Given the description of an element on the screen output the (x, y) to click on. 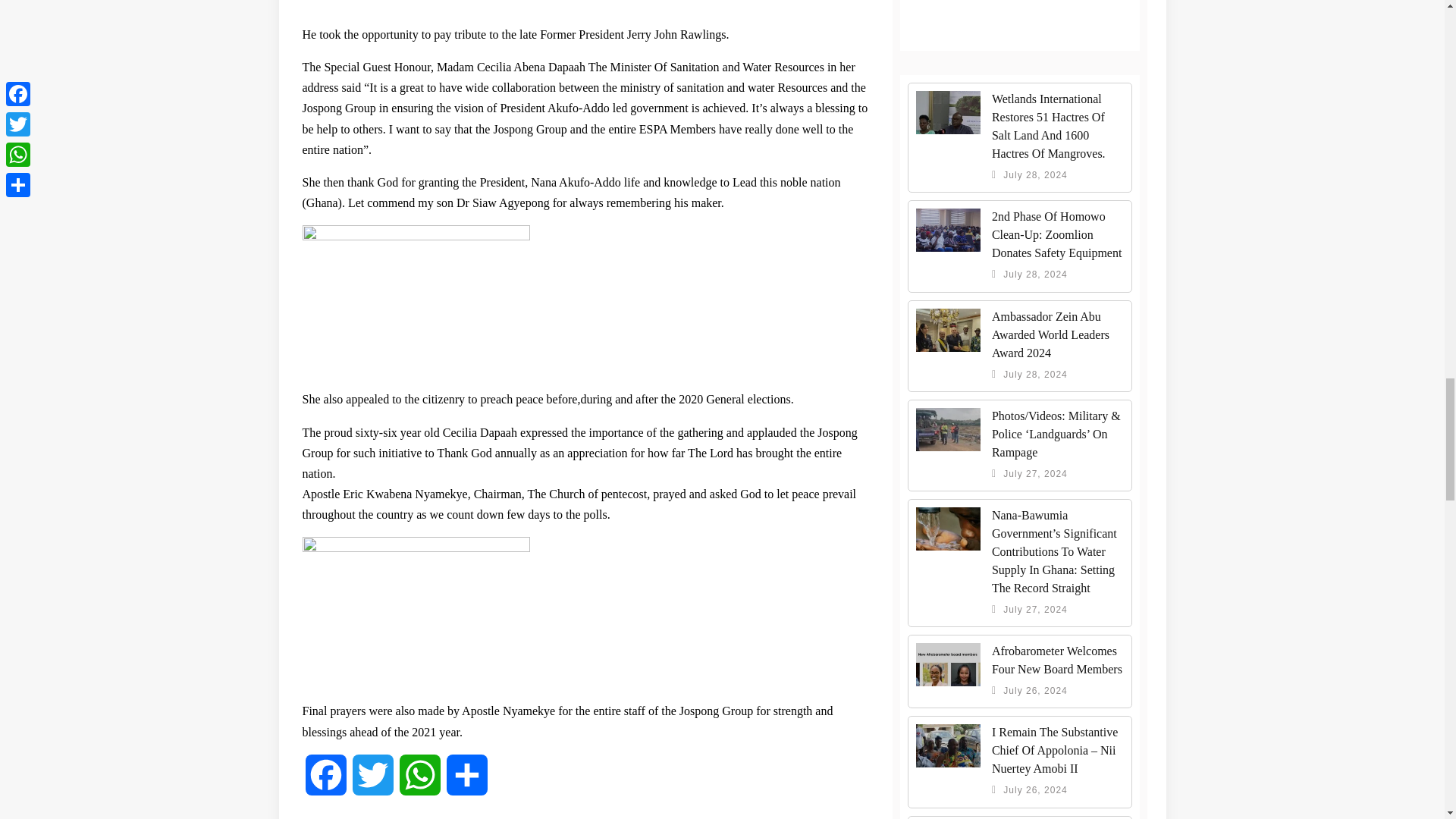
Advertisement (1021, 12)
